Given the description of an element on the screen output the (x, y) to click on. 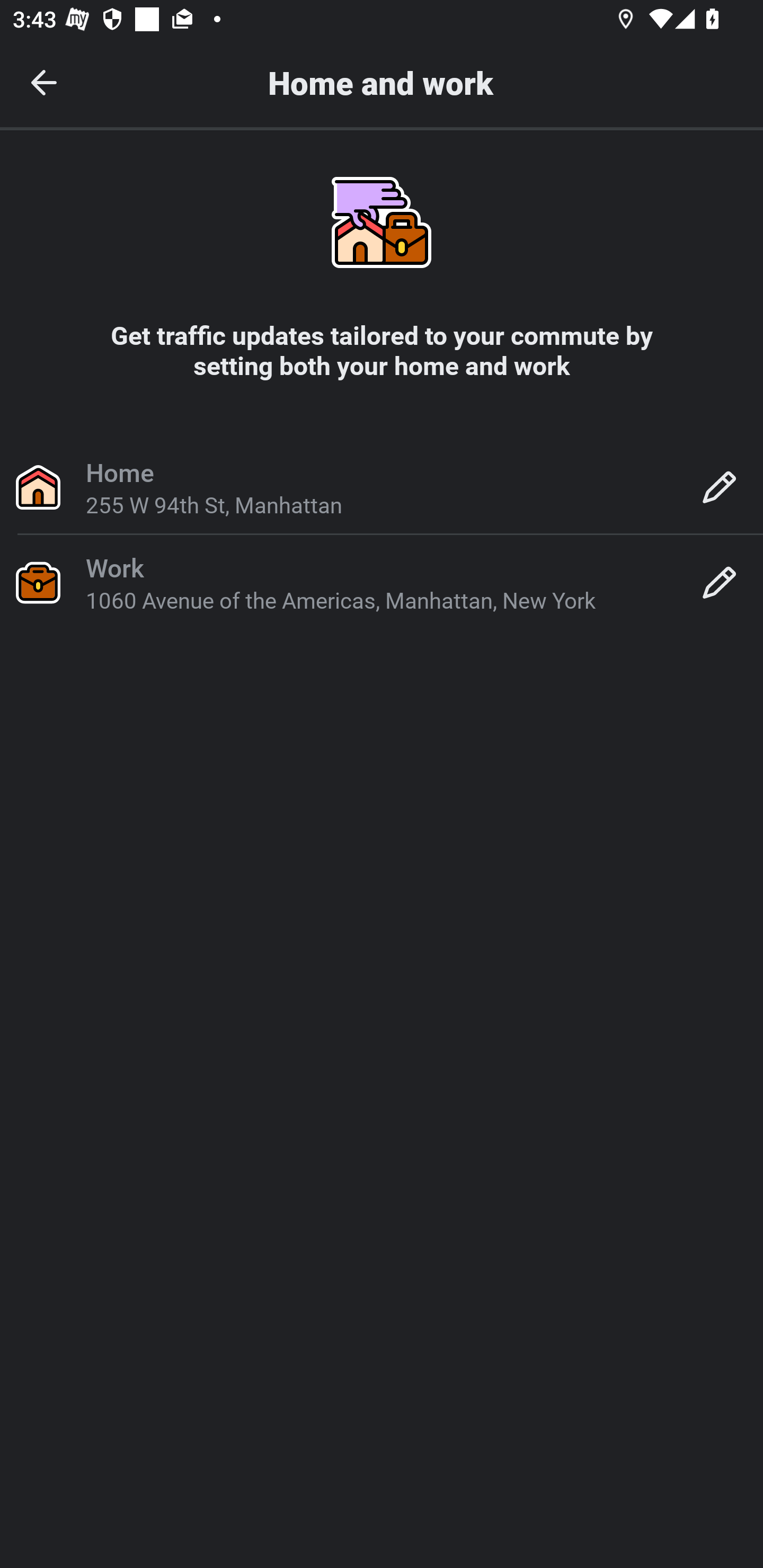
Home 255 W 94th St, Manhattan (381, 486)
